Given the description of an element on the screen output the (x, y) to click on. 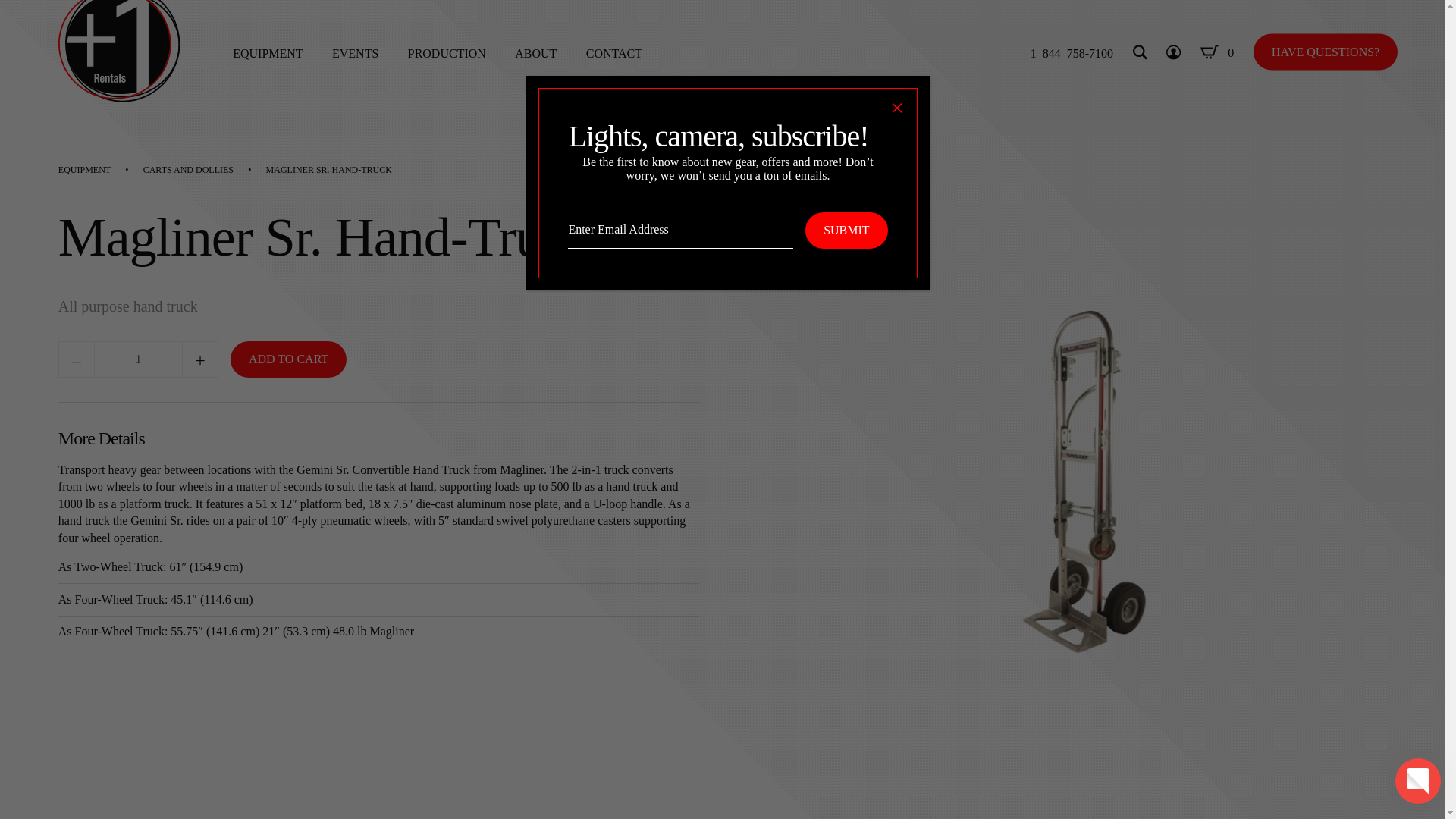
1 (138, 359)
View your cart (1216, 53)
Submit (845, 230)
Qty (138, 359)
EVENTS (354, 52)
EQUIPMENT (267, 52)
My Account (1173, 53)
ABOUT (535, 52)
PRODUCTION (446, 52)
